Given the description of an element on the screen output the (x, y) to click on. 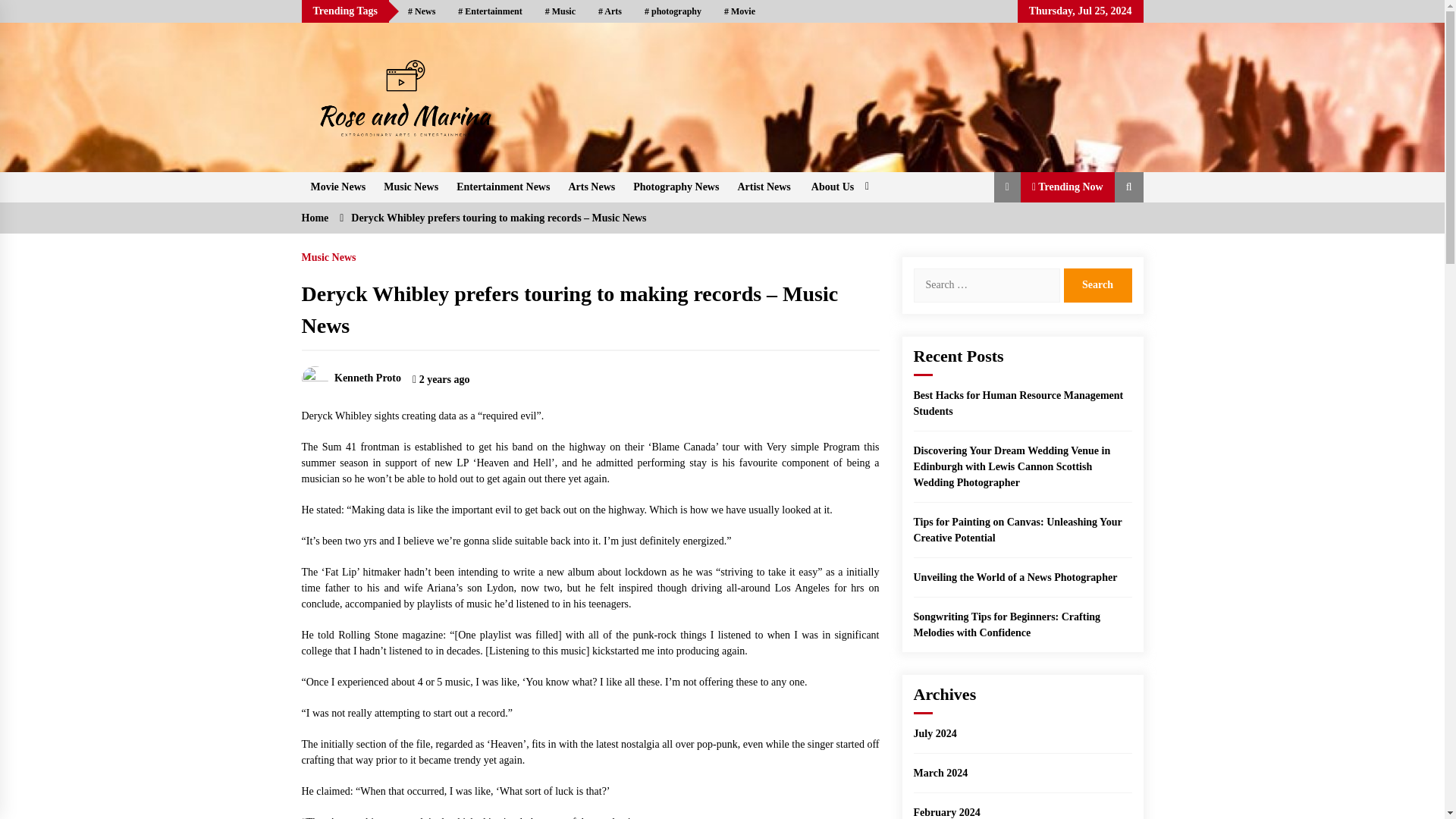
News (421, 11)
Search (1096, 285)
Movie News (338, 186)
Music (560, 11)
photography (673, 11)
Search (1096, 285)
Entertainment (489, 11)
Music News (410, 186)
About Us (837, 186)
Photography News (676, 186)
Arts News (591, 186)
Movie (740, 11)
Entertainment News (502, 186)
Arts (609, 11)
Artist News (763, 186)
